Given the description of an element on the screen output the (x, y) to click on. 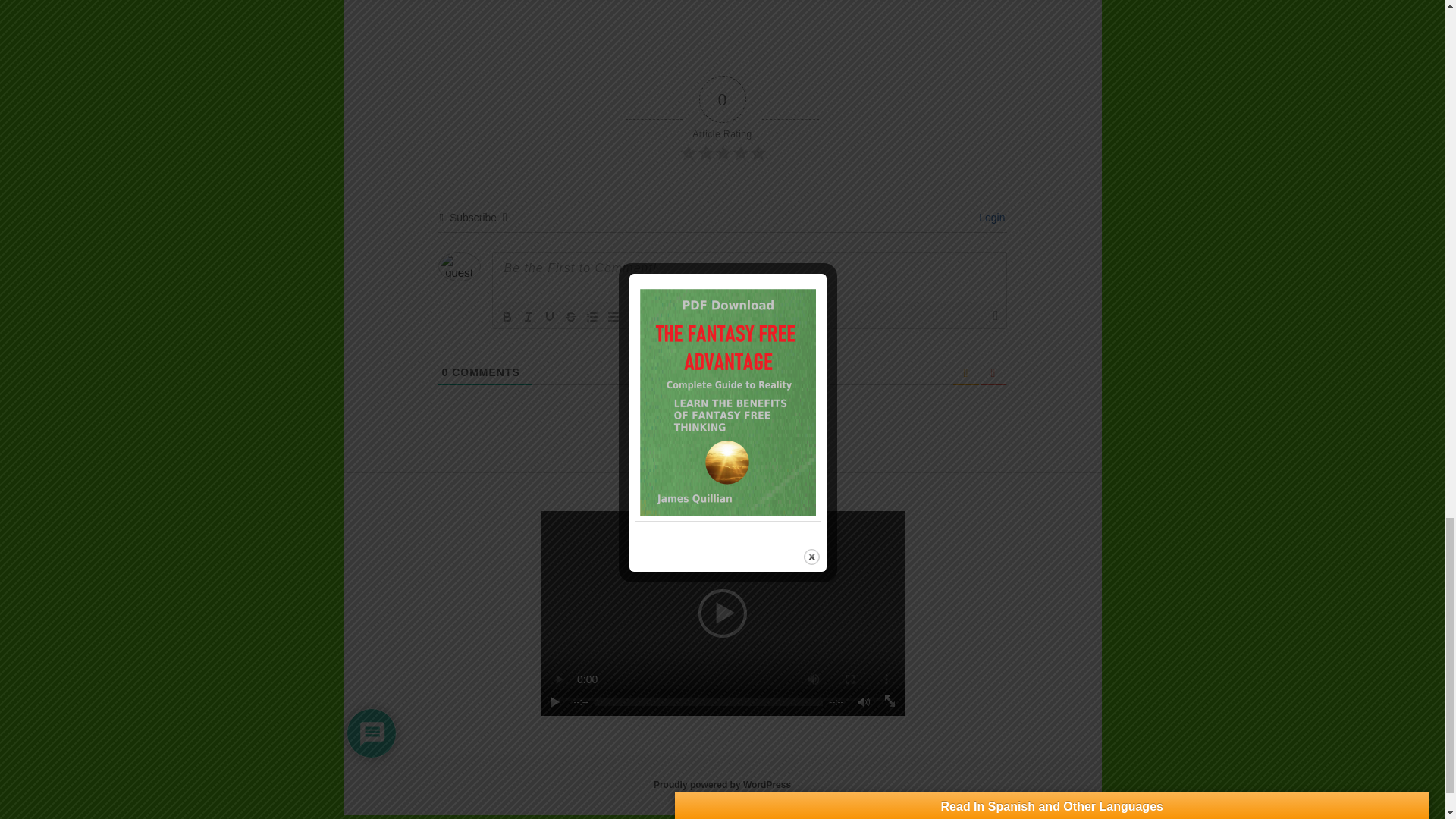
Strike (569, 316)
Source Code (695, 316)
Code Block (655, 316)
Unordered List (612, 316)
Underline (548, 316)
ordered (591, 316)
Italic (527, 316)
Bold (506, 316)
Ordered List (591, 316)
bullet (612, 316)
Blockquote (634, 316)
Link (676, 316)
Login (989, 217)
